Given the description of an element on the screen output the (x, y) to click on. 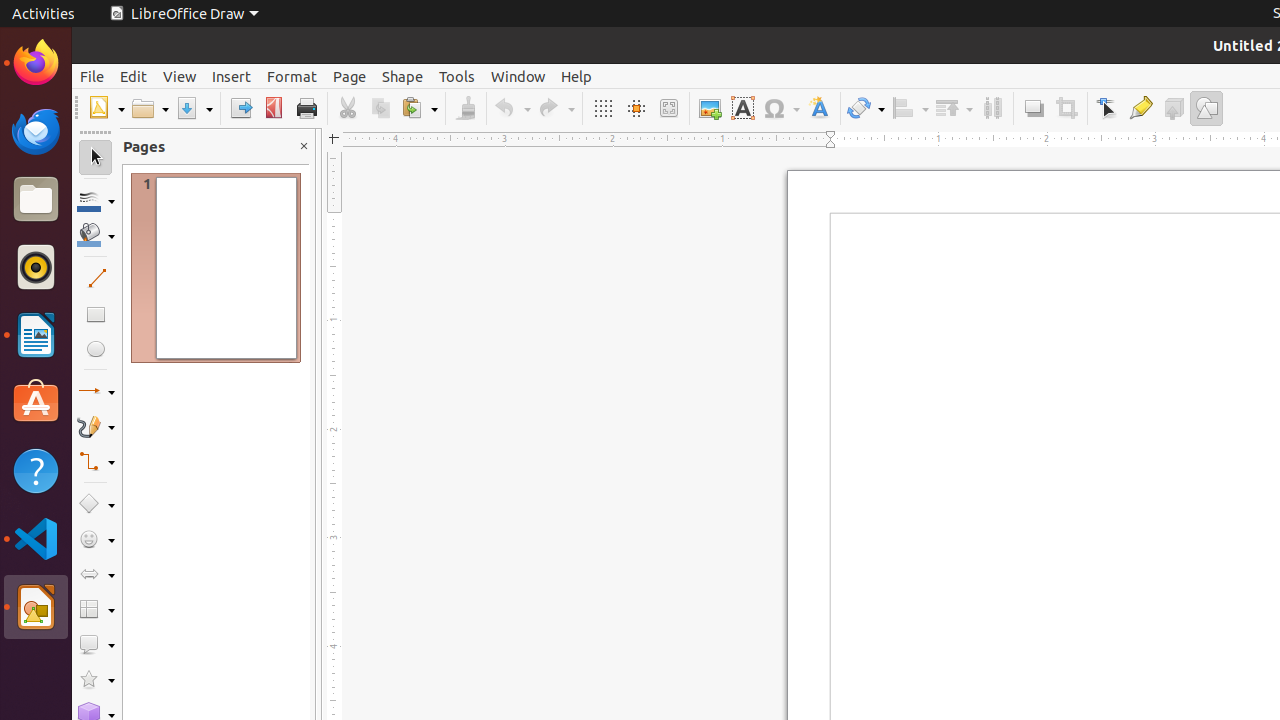
Glue Points Element type: push-button (1140, 108)
Star Shapes Element type: push-button (96, 679)
Close Pane Element type: push-button (303, 146)
Distribution Element type: push-button (992, 108)
LibreOffice Draw Element type: push-button (36, 607)
